Given the description of an element on the screen output the (x, y) to click on. 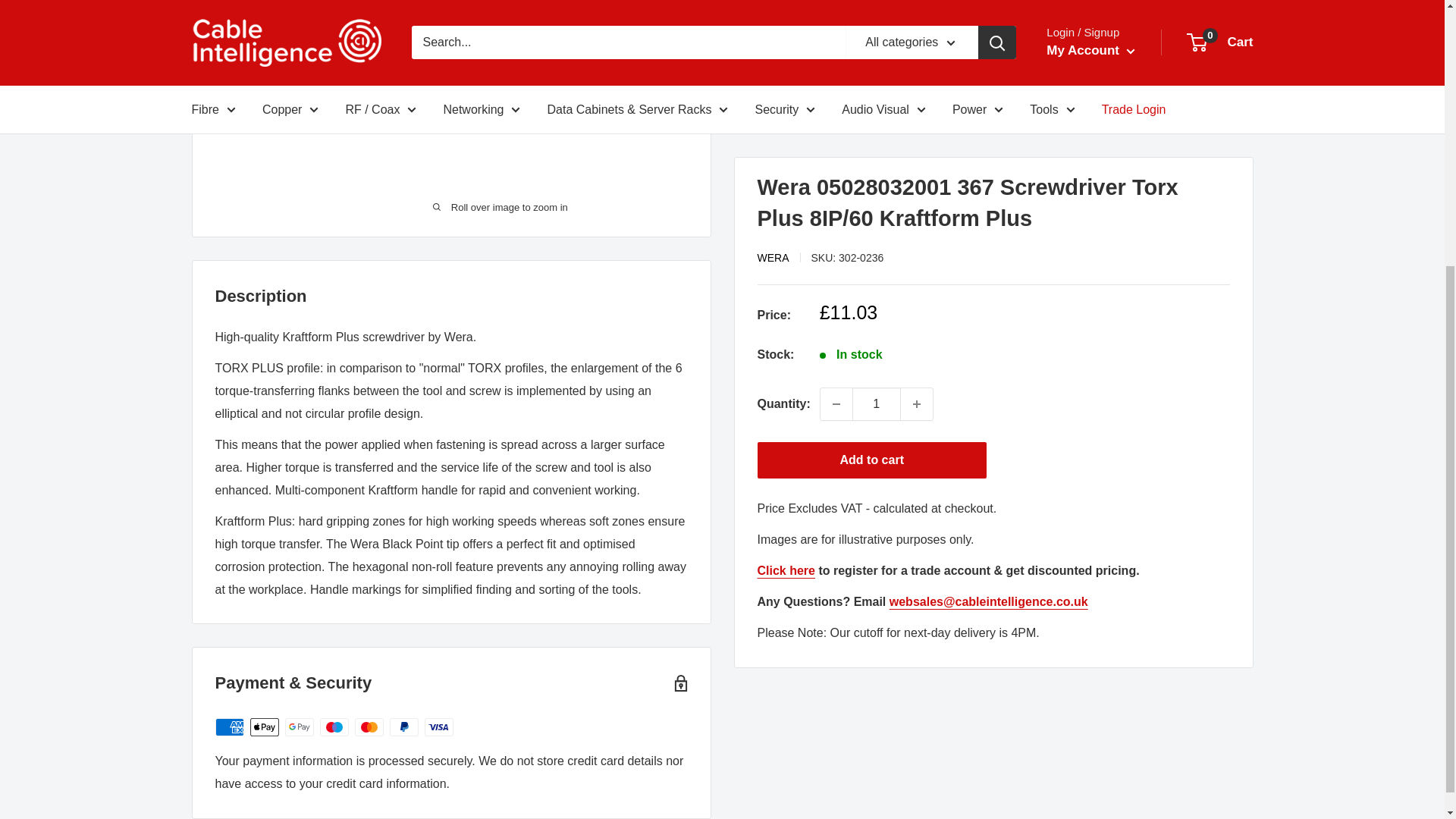
Increase quantity by 1 (917, 38)
1 (876, 38)
Decrease quantity by 1 (836, 38)
